Given the description of an element on the screen output the (x, y) to click on. 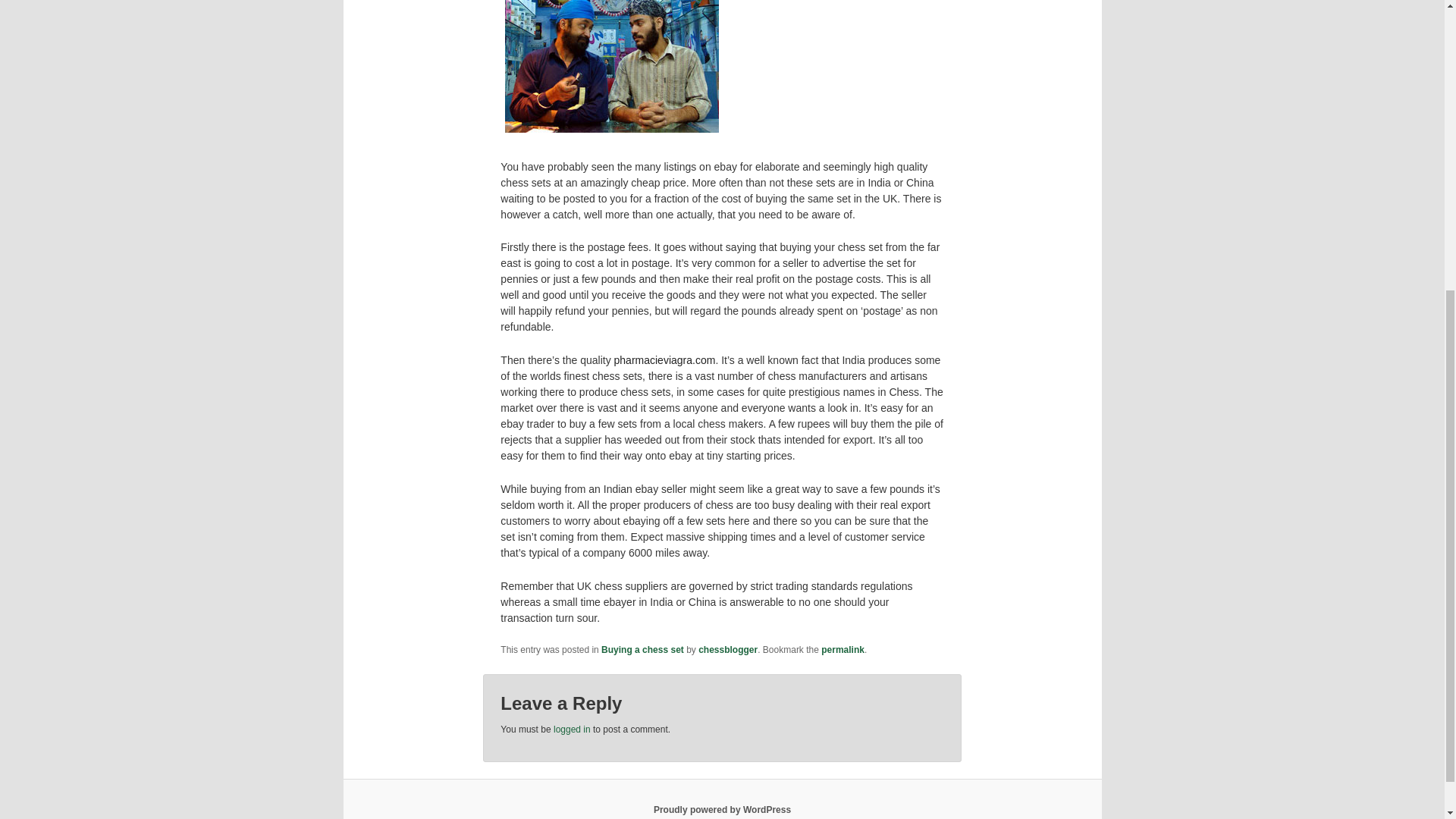
Permalink to Buying a chess set direct from India (842, 649)
Buying a chess set (642, 649)
logged in (572, 728)
pharmacieviagra.com (665, 359)
Proudly powered by WordPress (721, 809)
Semantic Personal Publishing Platform (721, 809)
indian-chess-deal (611, 68)
chessblogger (727, 649)
permalink (842, 649)
